Given the description of an element on the screen output the (x, y) to click on. 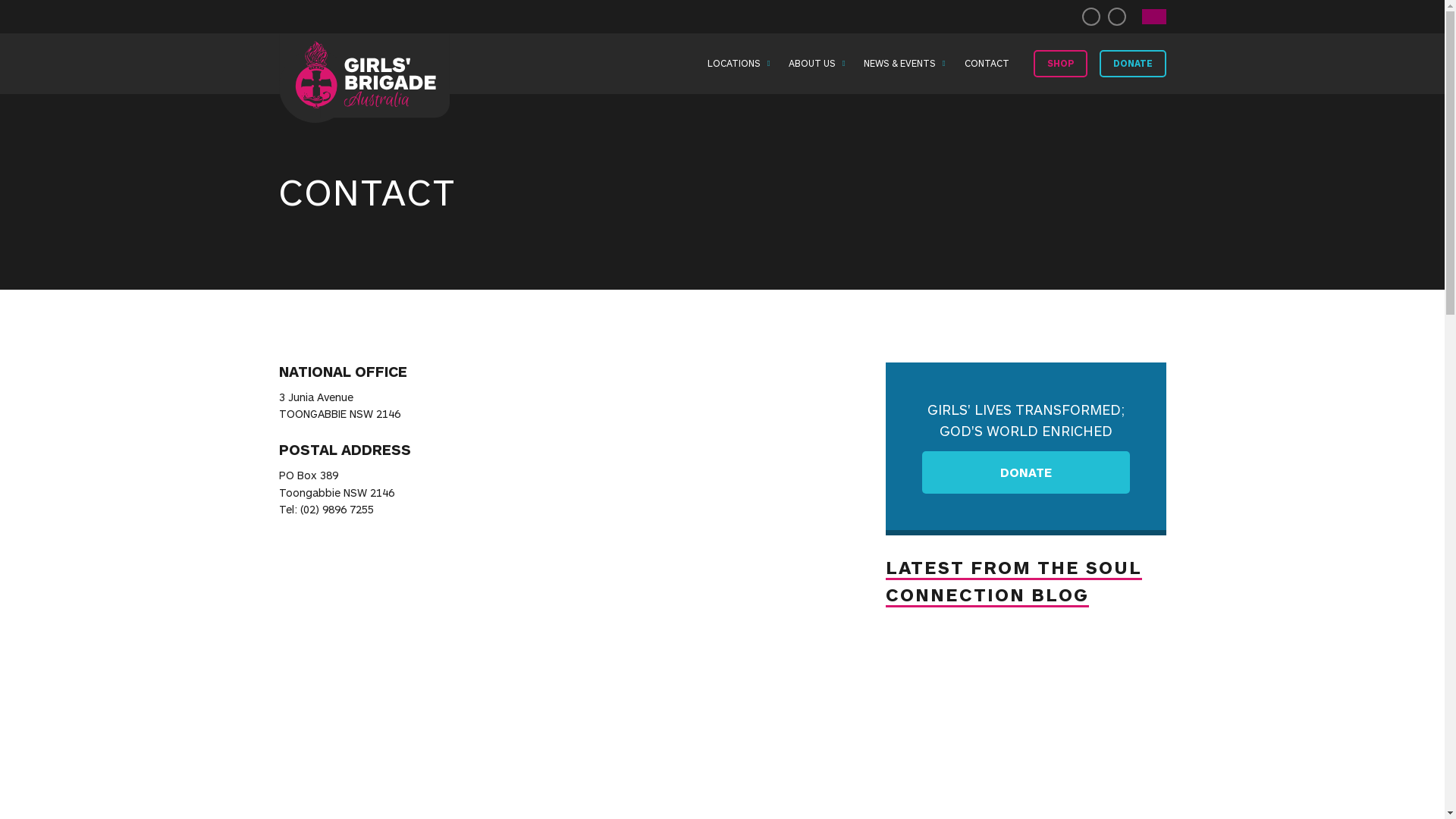
LOCATIONS Element type: text (733, 63)
SHOP Element type: text (1059, 63)
CONTACT Element type: text (986, 63)
NEWS & EVENTS Element type: text (899, 63)
DONATE Element type: text (1025, 472)
ABOUT US Element type: text (811, 63)
DONATE Element type: text (1132, 63)
